Given the description of an element on the screen output the (x, y) to click on. 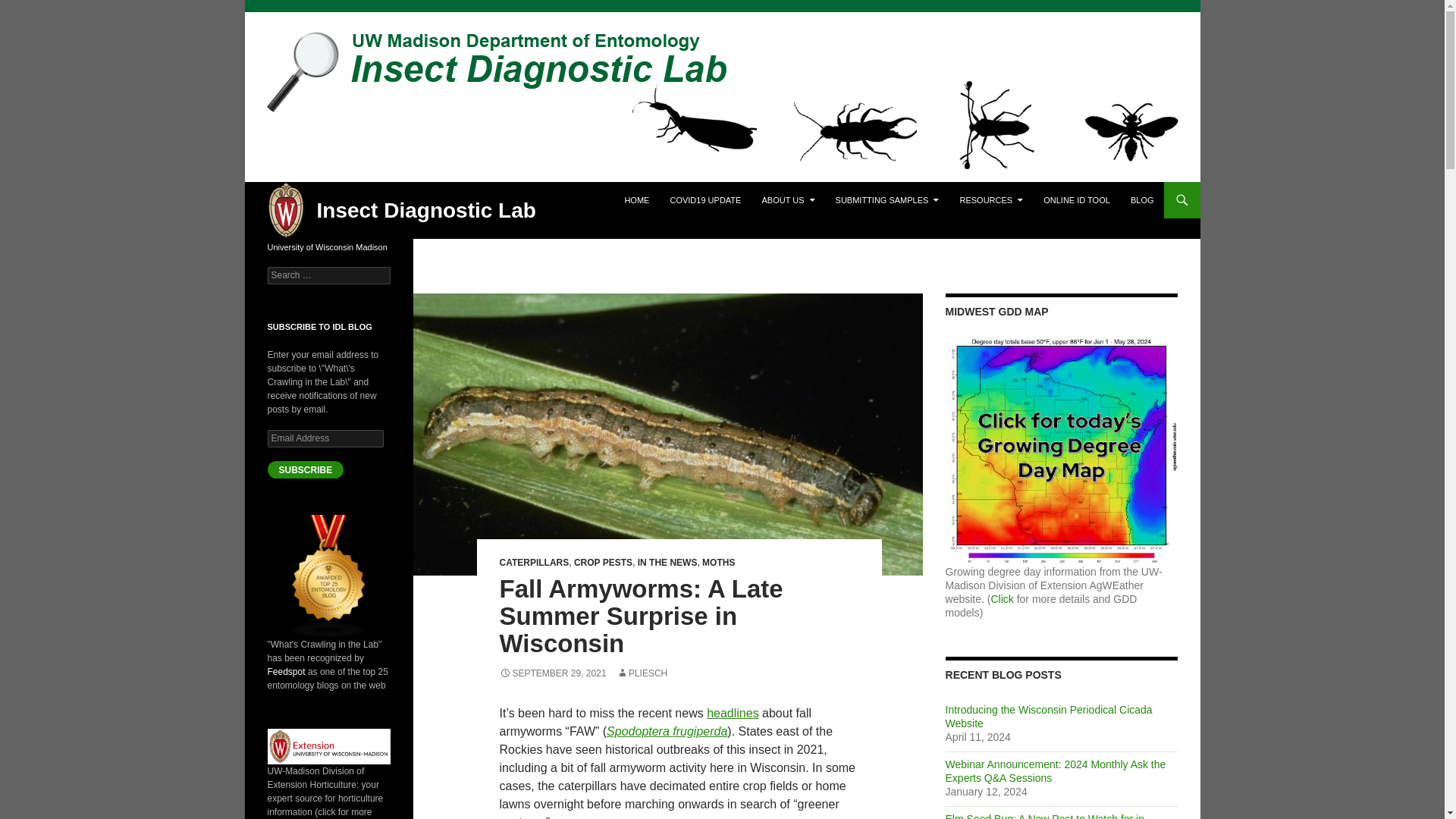
CATERPILLARS (534, 562)
ABOUT US (788, 199)
Insect Diagnostic Lab (426, 210)
MOTHS (718, 562)
SEPTEMBER 29, 2021 (552, 673)
RESOURCES (991, 199)
SUBMITTING SAMPLES (888, 199)
COVID19 UPDATE (705, 199)
CROP PESTS (602, 562)
